Given the description of an element on the screen output the (x, y) to click on. 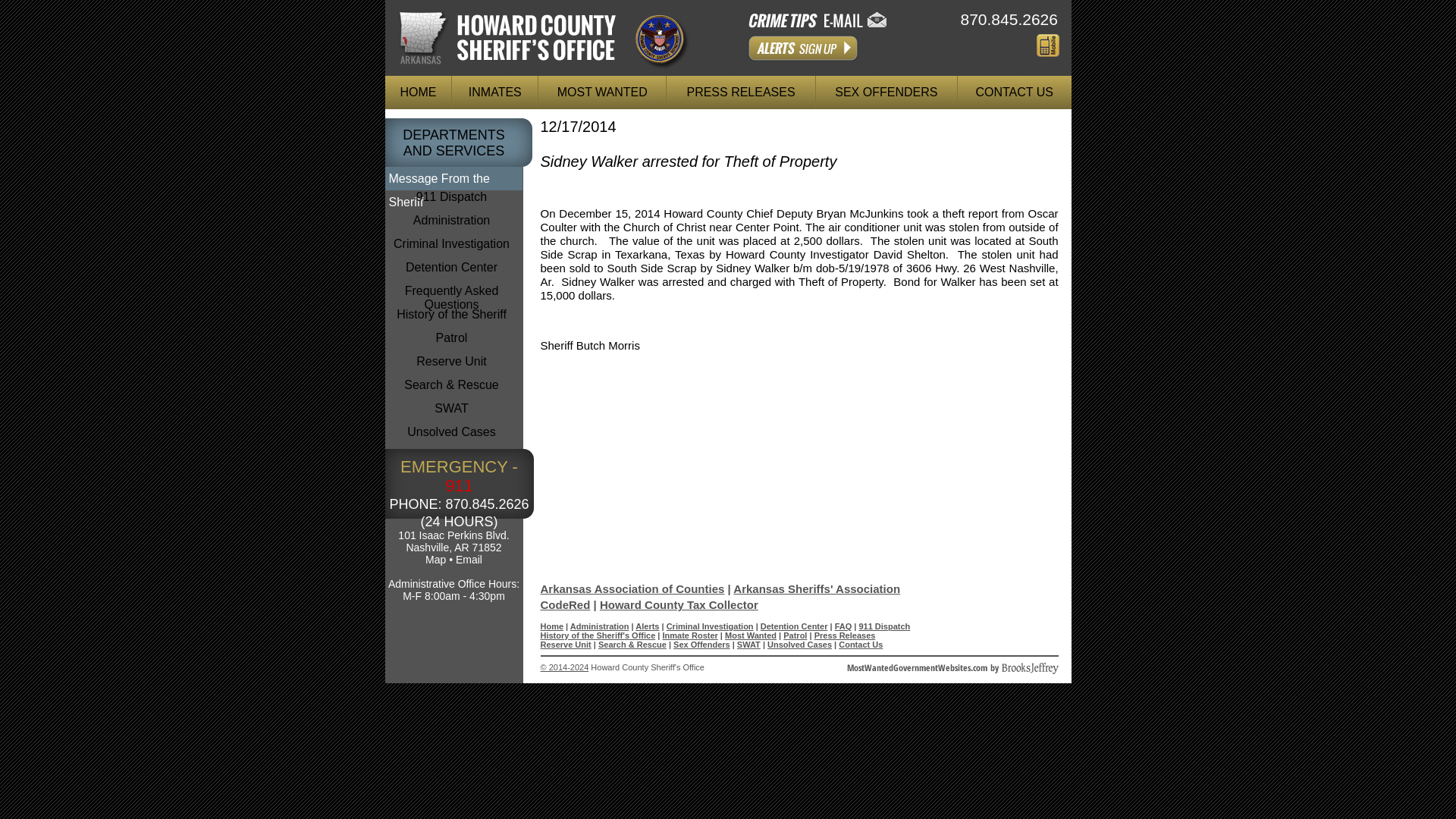
History of the Sheriff's Office (597, 634)
Patrol (451, 342)
Most Wanted (750, 634)
Detention Center (794, 625)
Alerts (802, 47)
Criminal Investigation (451, 249)
MOST WANTED (601, 92)
Message From the Sheriff (453, 178)
911 Dispatch (884, 625)
Patrol (794, 634)
Press Releases (844, 634)
INMATES (494, 92)
Criminal Investigation (710, 625)
Reserve Unit (451, 366)
